Given the description of an element on the screen output the (x, y) to click on. 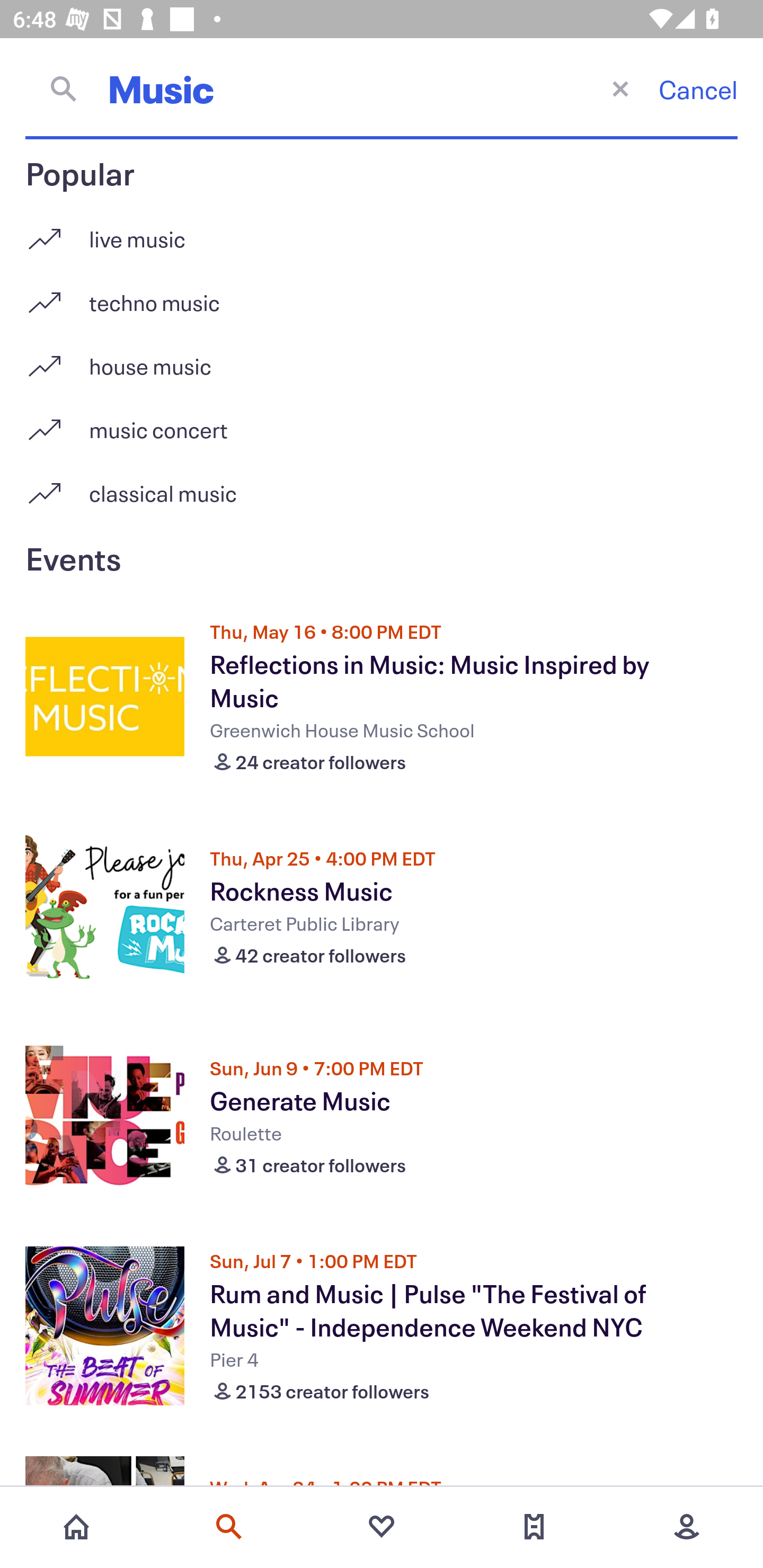
Music Close current screen Cancel (381, 88)
Close current screen (620, 88)
Cancel (697, 89)
live music (381, 231)
techno music (381, 295)
house music (381, 358)
music concert (381, 422)
classical music (381, 492)
Home (76, 1526)
Search events (228, 1526)
Favorites (381, 1526)
Tickets (533, 1526)
More (686, 1526)
